Given the description of an element on the screen output the (x, y) to click on. 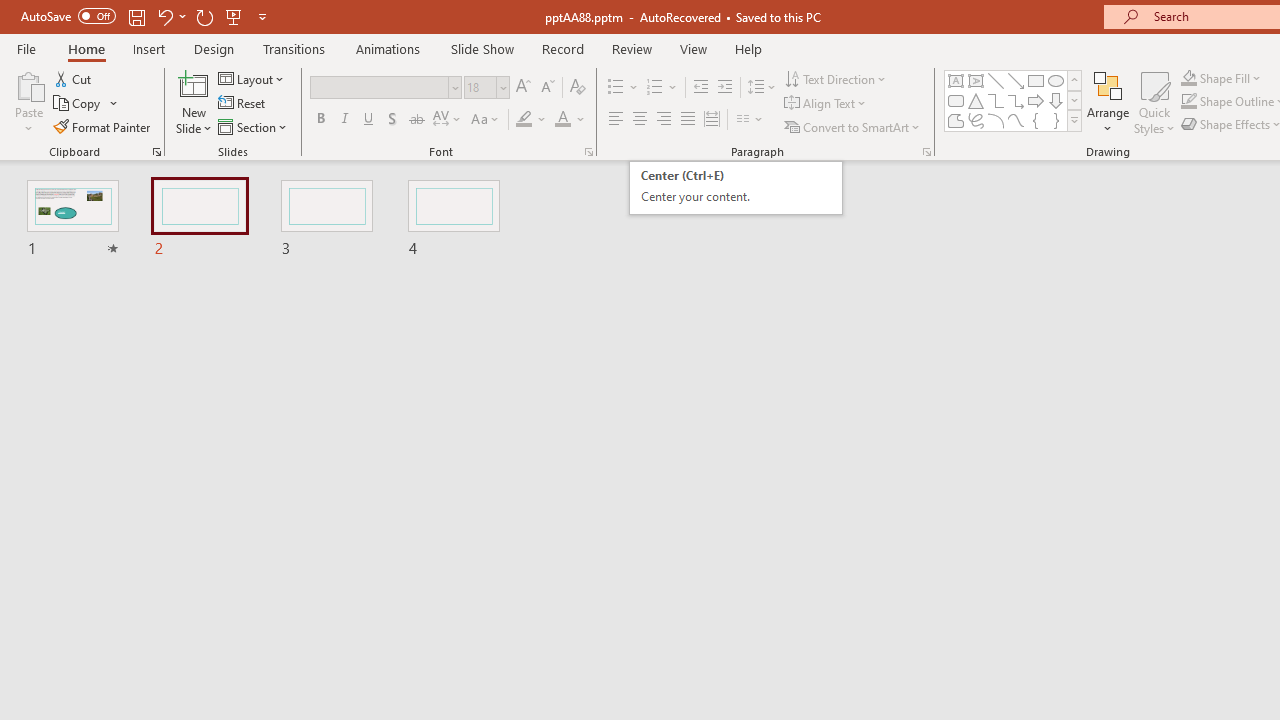
Change Case (486, 119)
Align Right (663, 119)
Freeform: Shape (955, 120)
Right Brace (1055, 120)
Row up (1074, 79)
Arc (995, 120)
Increase Indent (725, 87)
Font Size (486, 87)
Font Color Red (562, 119)
Shape Fill (1221, 78)
